Given the description of an element on the screen output the (x, y) to click on. 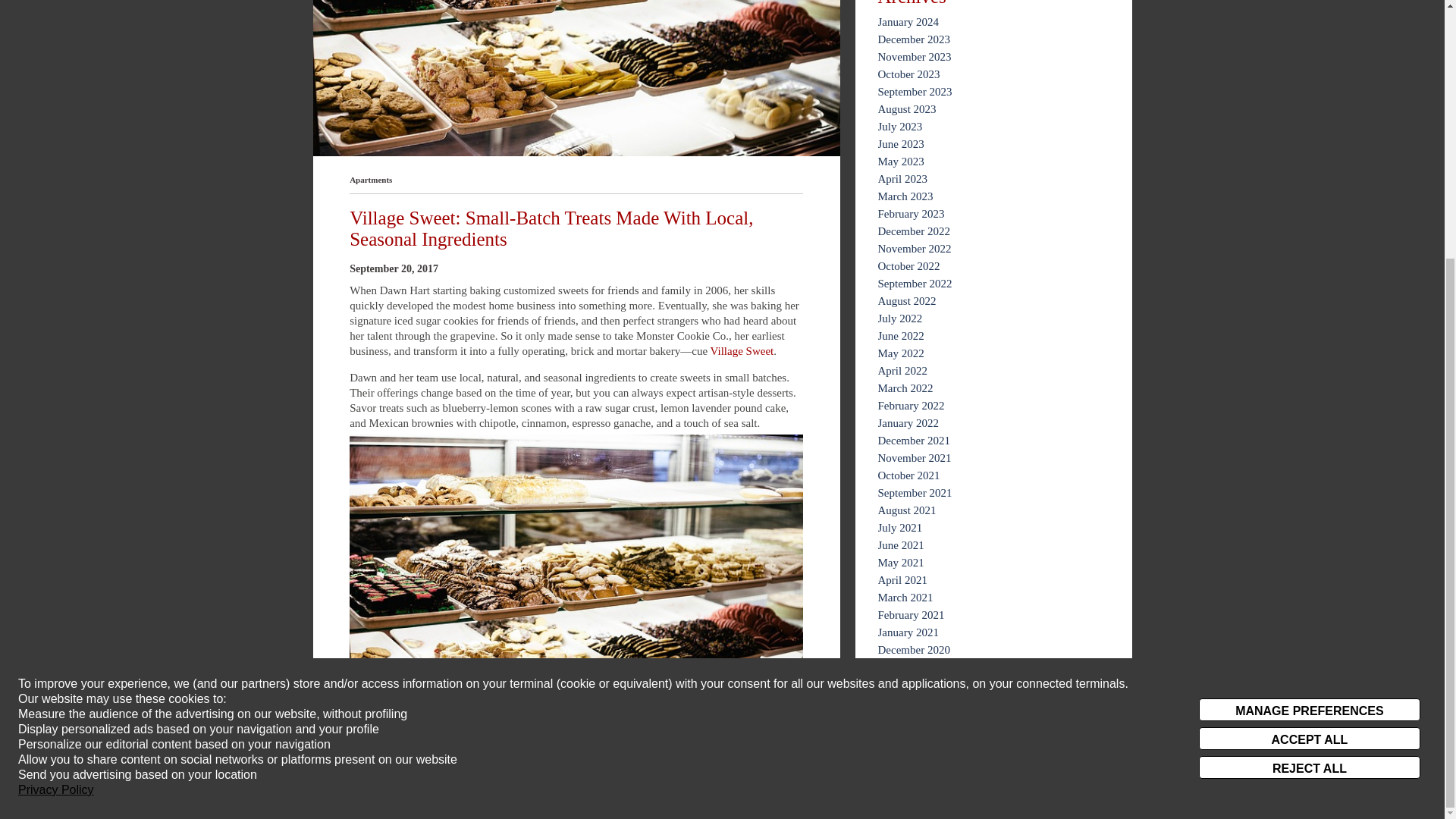
Privacy Policy (55, 420)
ACCEPT ALL (1309, 368)
REJECT ALL (1309, 397)
MANAGE PREFERENCES (1309, 340)
